Given the description of an element on the screen output the (x, y) to click on. 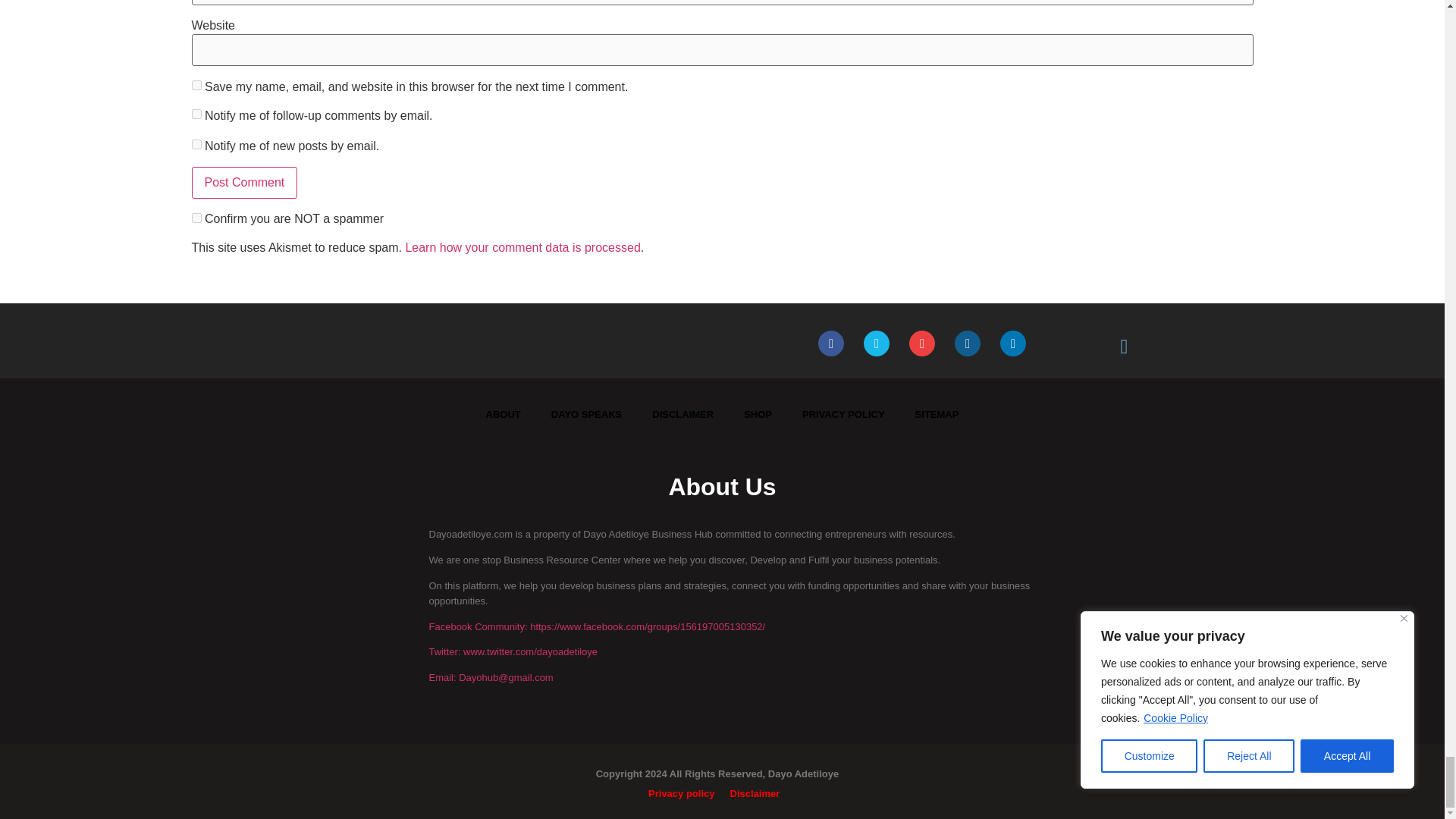
yes (195, 85)
Post Comment (243, 183)
on (195, 217)
subscribe (195, 113)
subscribe (195, 144)
